Given the description of an element on the screen output the (x, y) to click on. 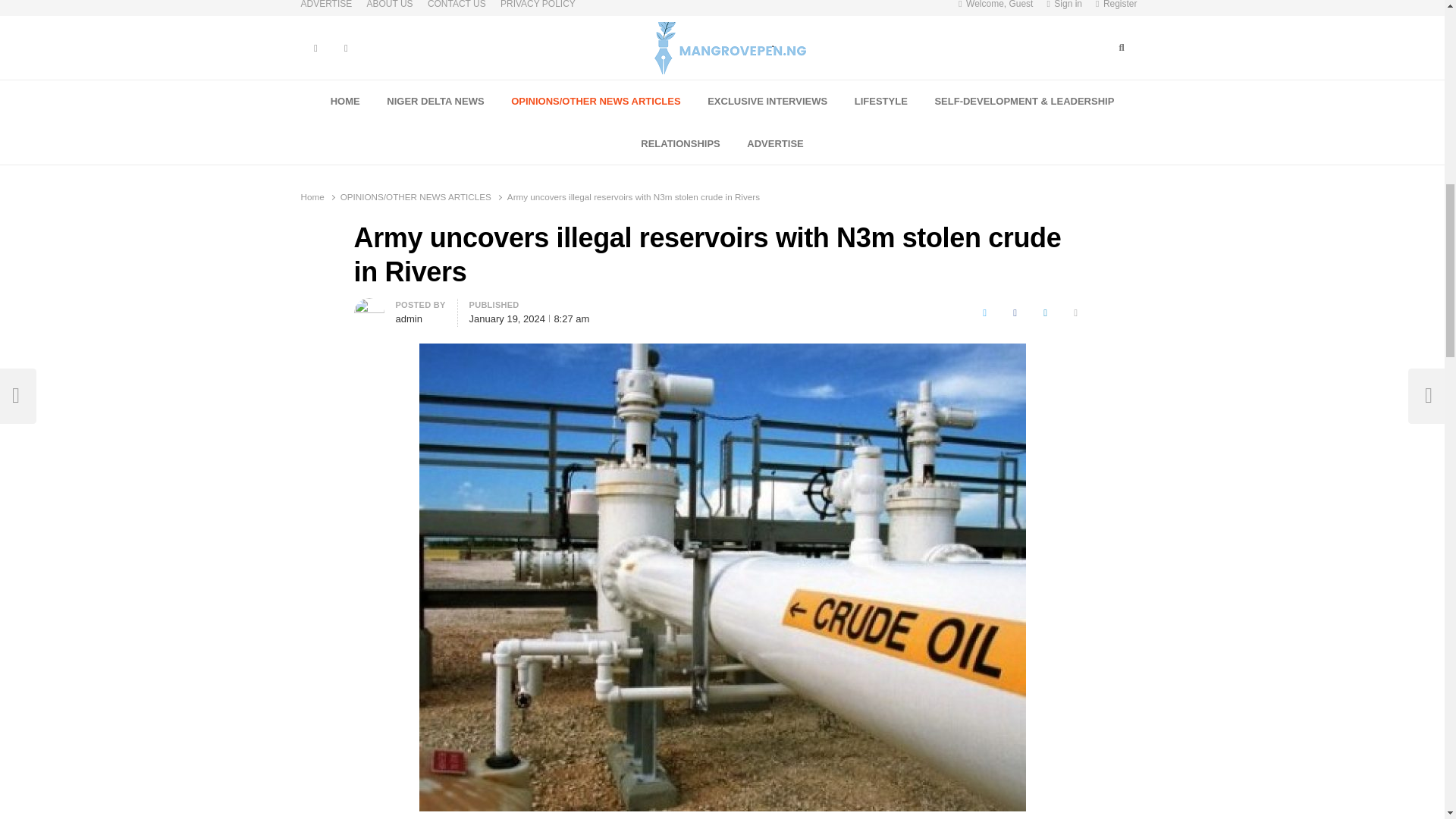
More posts by admin (368, 306)
PRIVACY POLICY (537, 7)
NIGER DELTA NEWS (435, 101)
Log In (1042, 162)
Mangrove Pen (608, 84)
LIFESTYLE (881, 101)
admin (409, 318)
HOME (345, 101)
Register (1116, 7)
